Given the description of an element on the screen output the (x, y) to click on. 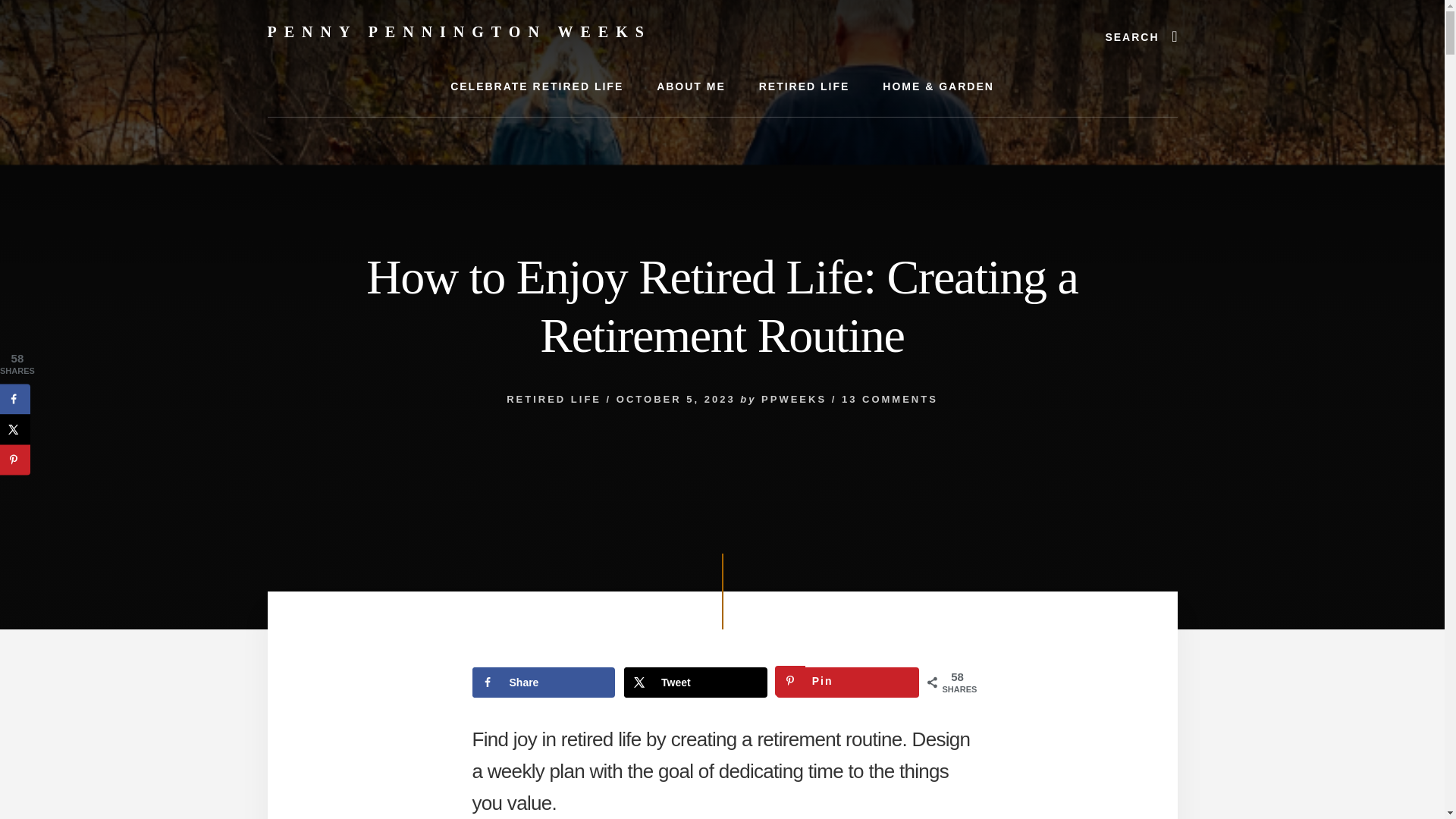
Share on Facebook (542, 682)
RETIRED LIFE (553, 398)
Share on Facebook (15, 399)
Share on X (15, 429)
PPWEEKS (794, 398)
Save to Pinterest (848, 682)
Pin (848, 682)
PENNY PENNINGTON WEEKS (458, 31)
ABOUT ME (691, 86)
